Given the description of an element on the screen output the (x, y) to click on. 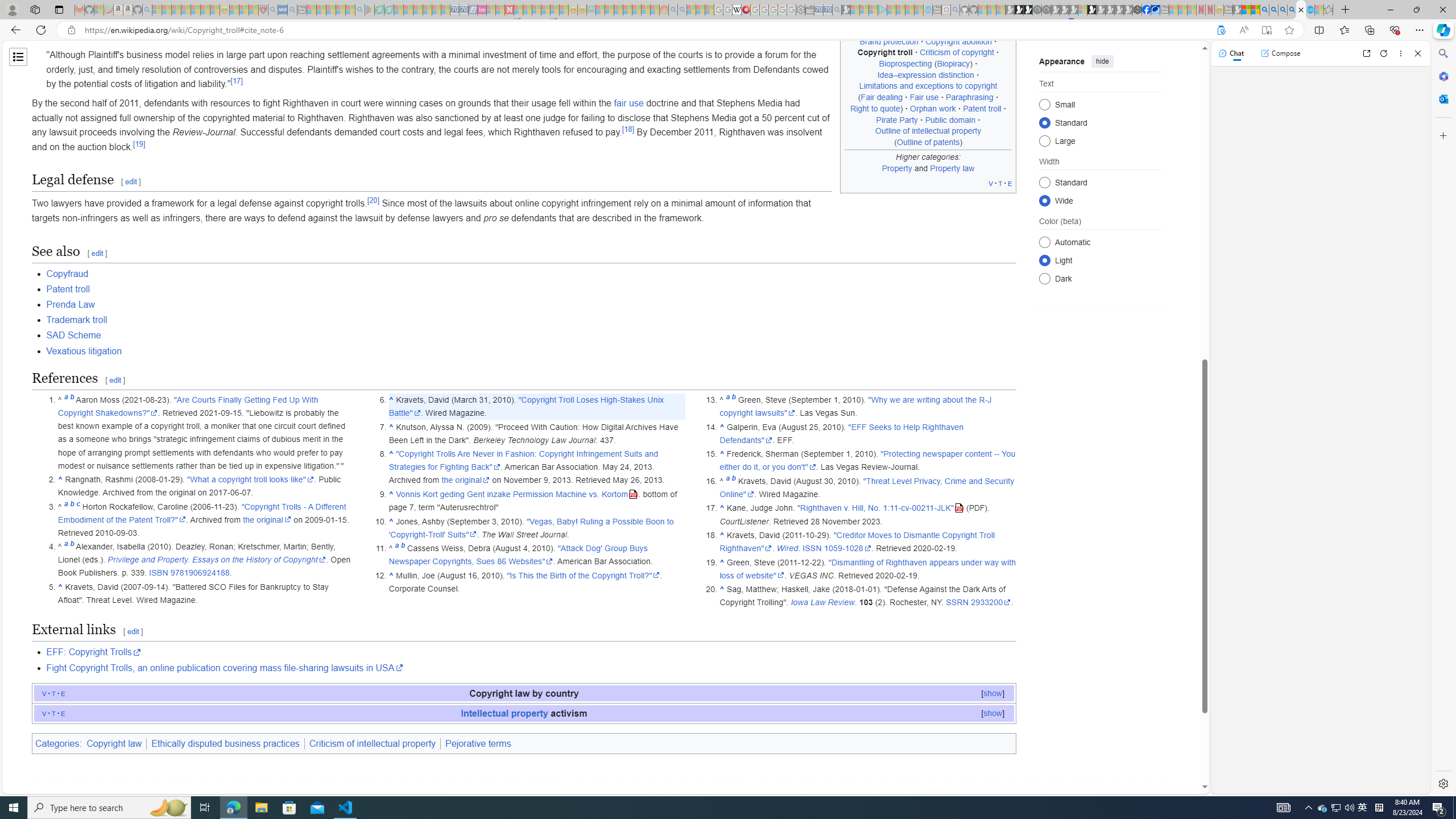
Criticism of intellectual property (372, 743)
Brand protection (888, 40)
b (732, 480)
Iowa Law Review (822, 602)
Local - MSN - Sleeping (253, 9)
Nordace | Facebook (1146, 9)
Recipes - MSN - Sleeping (234, 9)
Ethically disputed business practices (225, 742)
